Given the description of an element on the screen output the (x, y) to click on. 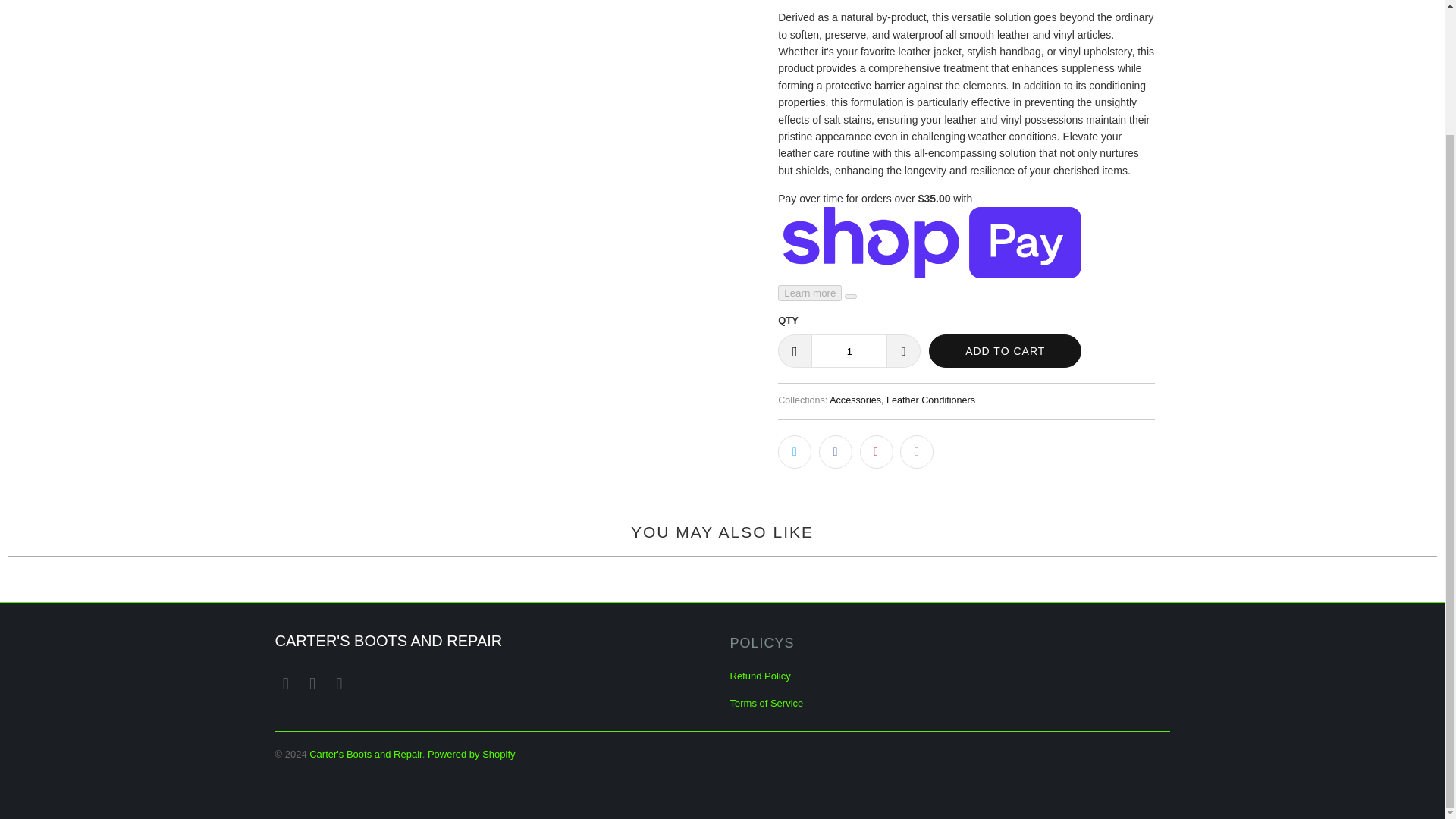
Leather Conditioners (930, 399)
Email this to a friend (916, 451)
Accessories (854, 399)
1 (848, 350)
Share this on Facebook (834, 451)
Share this on Pinterest (876, 451)
Carter's Boots and Repair on Instagram (312, 683)
Carter's Boots and Repair on Facebook (286, 683)
Email Carter's Boots and Repair (339, 683)
Share this on Twitter (793, 451)
